Given the description of an element on the screen output the (x, y) to click on. 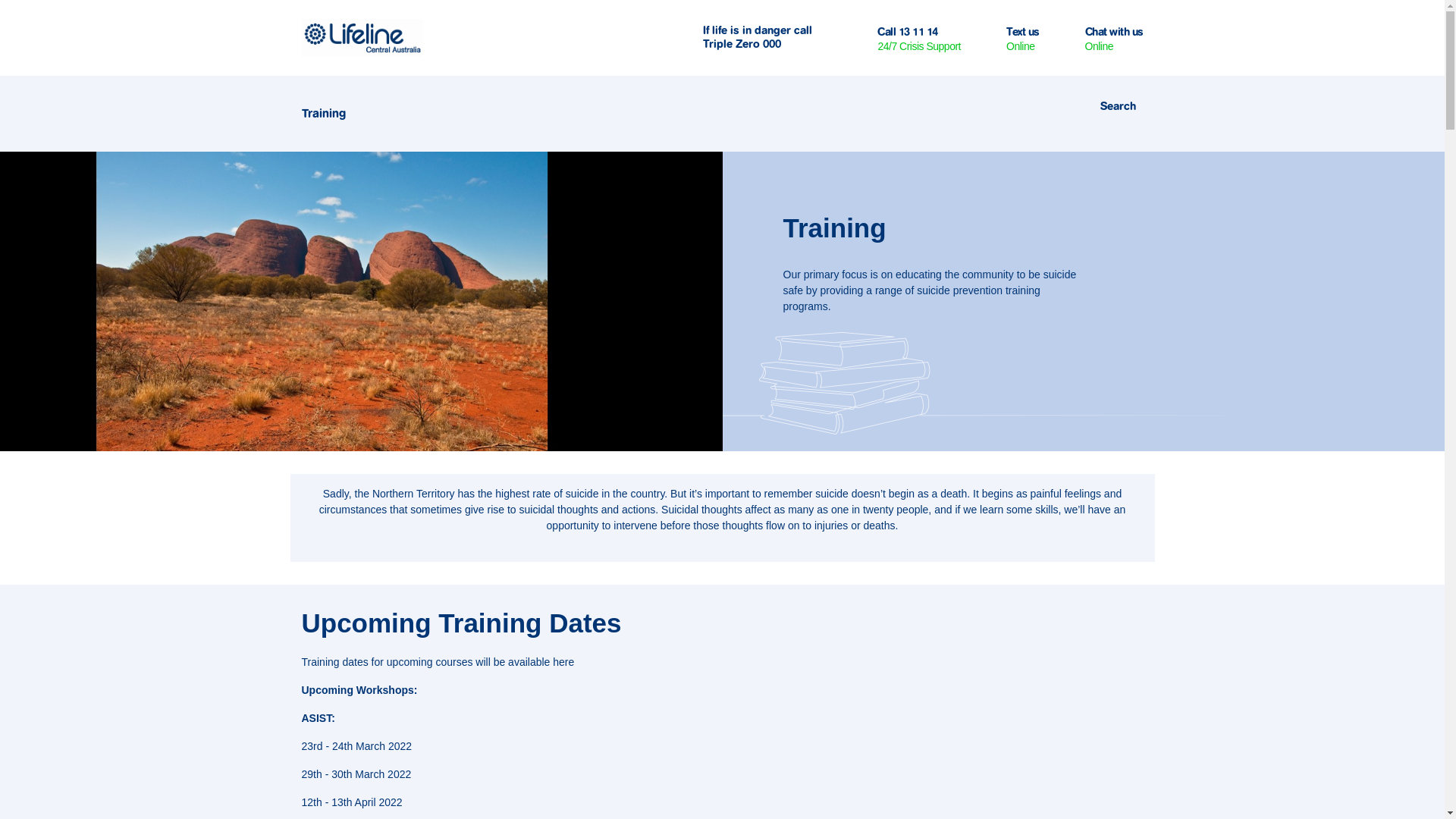
Search Element type: text (1117, 104)
000 Element type: text (771, 44)
Training Element type: text (330, 113)
Text us
Online Element type: text (1022, 38)
Call 13 11 14
24/7 Crisis Support Element type: text (918, 38)
Chat with us
Online Element type: text (1113, 38)
